Given the description of an element on the screen output the (x, y) to click on. 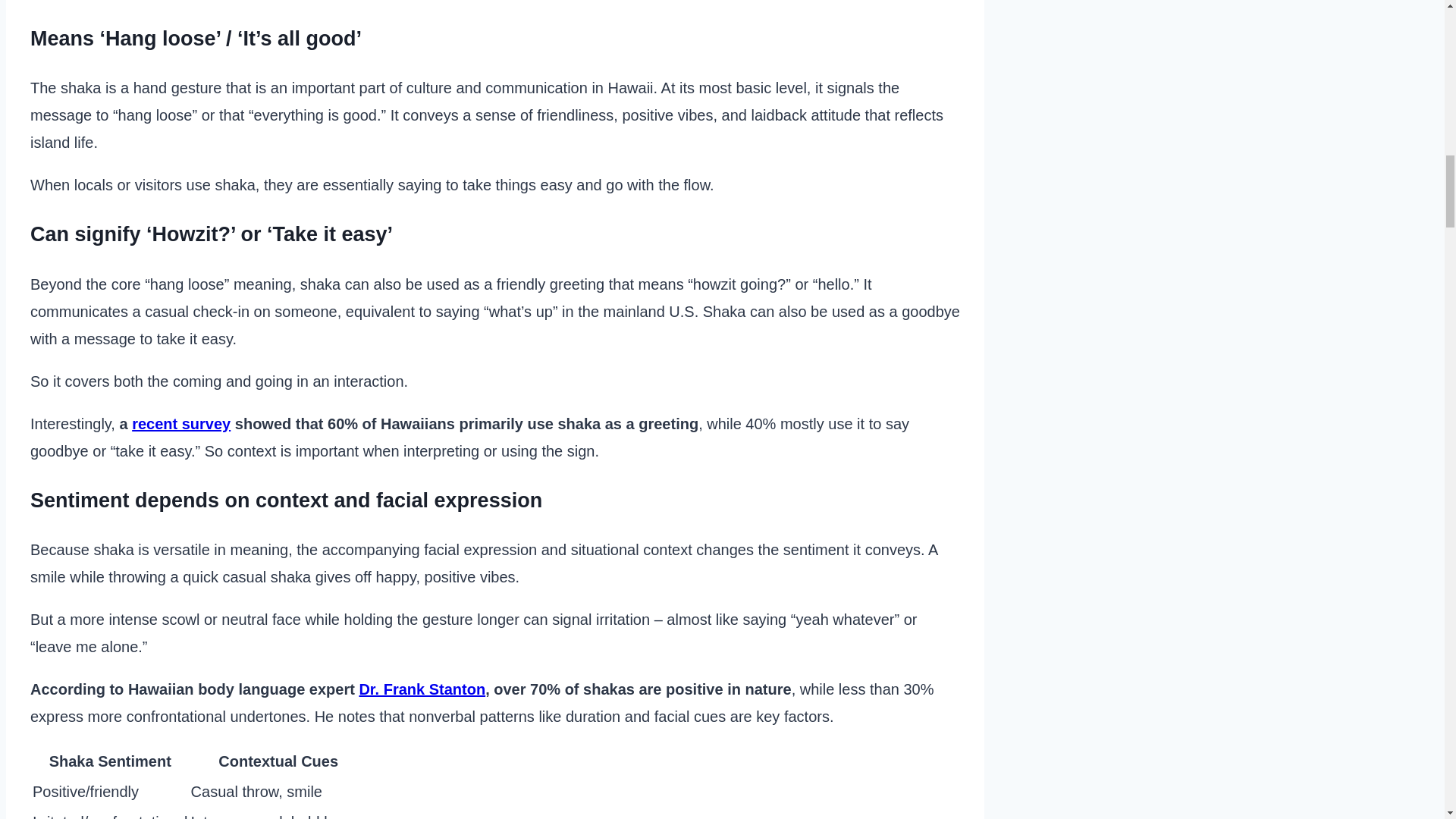
recent survey (181, 423)
Dr. Frank Stanton (421, 688)
